Given the description of an element on the screen output the (x, y) to click on. 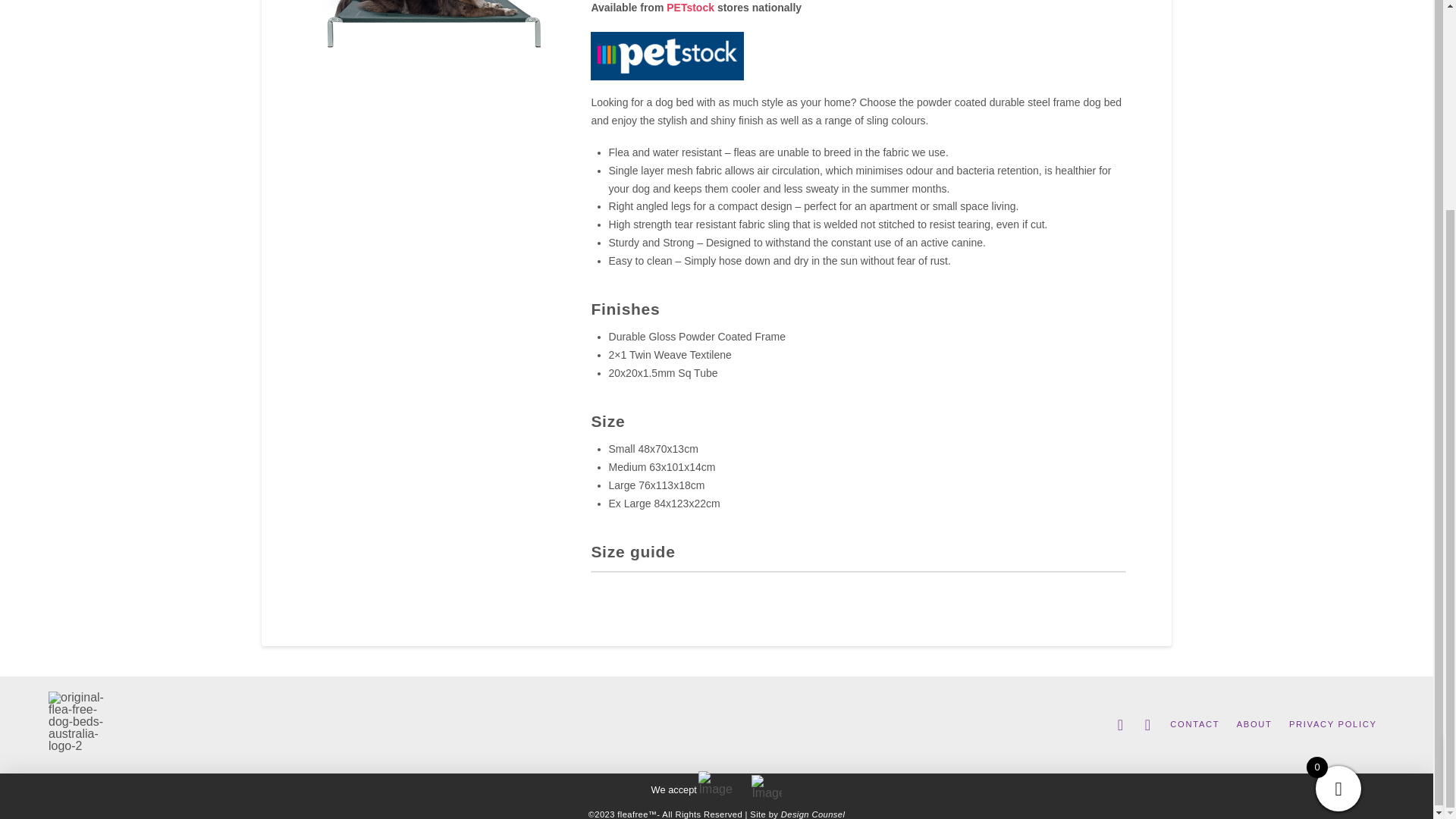
fleafree-premium-dog-bed (432, 39)
PRIVACY POLICY (1331, 724)
PETstock (690, 7)
Design Counsel (812, 814)
